Given the description of an element on the screen output the (x, y) to click on. 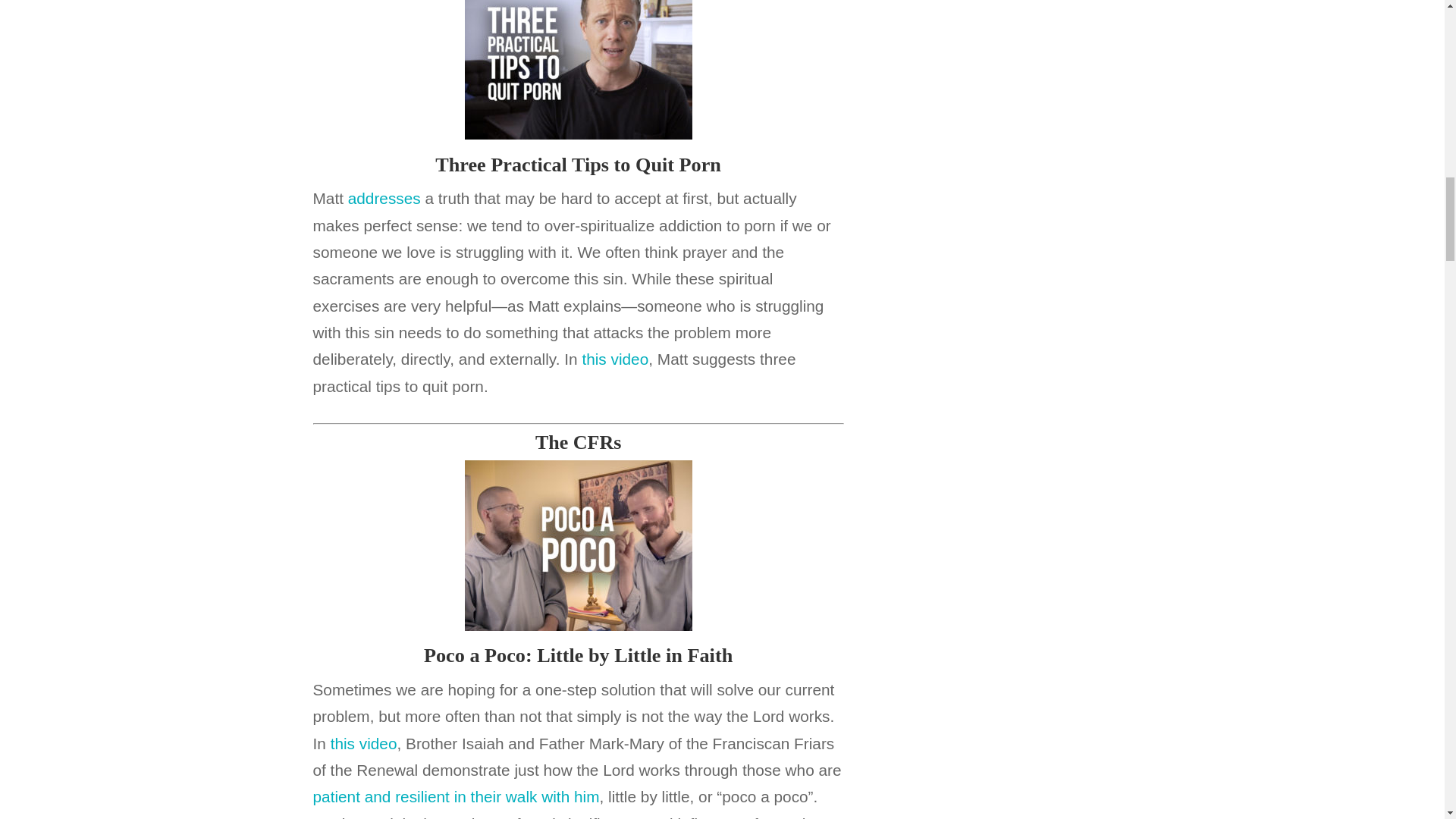
Three Practical Tips to Quit Porn (577, 166)
